Given the description of an element on the screen output the (x, y) to click on. 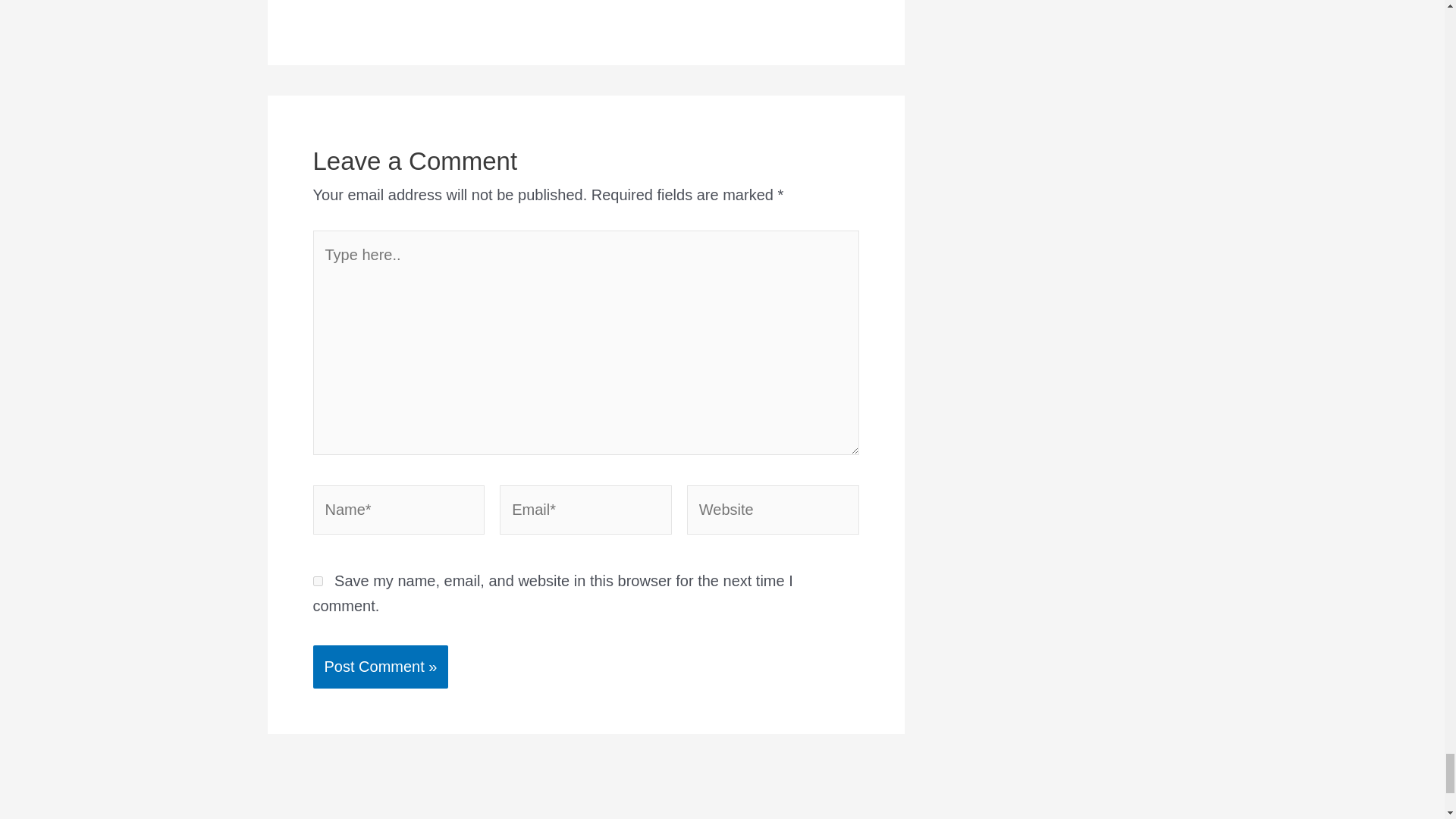
yes (317, 581)
